Given the description of an element on the screen output the (x, y) to click on. 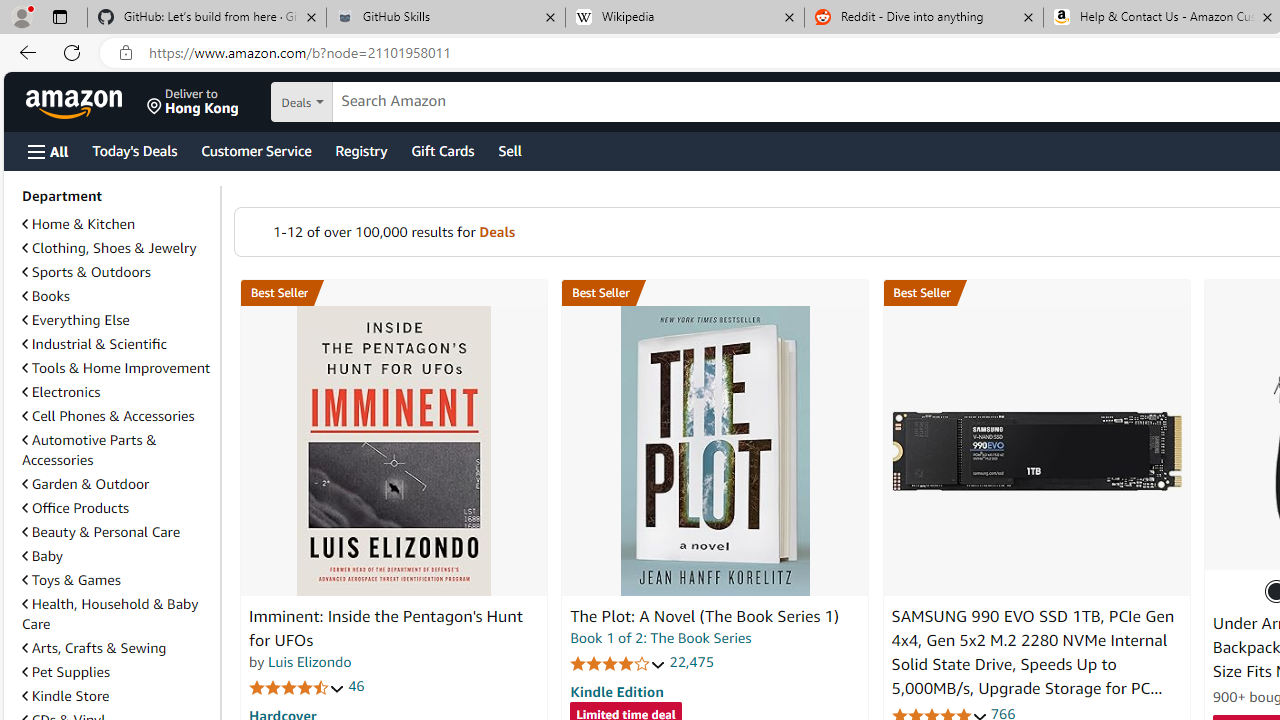
Best Seller in Heist Thrillers (715, 293)
Pet Supplies (117, 671)
Clothing, Shoes & Jewelry (117, 247)
22,475 (691, 662)
Books (117, 295)
Industrial & Scientific (94, 343)
Imminent: Inside the Pentagon's Hunt for UFOs (393, 451)
Kindle Store (65, 695)
Automotive Parts & Accessories (89, 449)
Wikipedia (684, 17)
Electronics (61, 392)
Best Seller in Internal Solid State Drives (1036, 293)
Arts, Crafts & Sewing (93, 647)
